Given the description of an element on the screen output the (x, y) to click on. 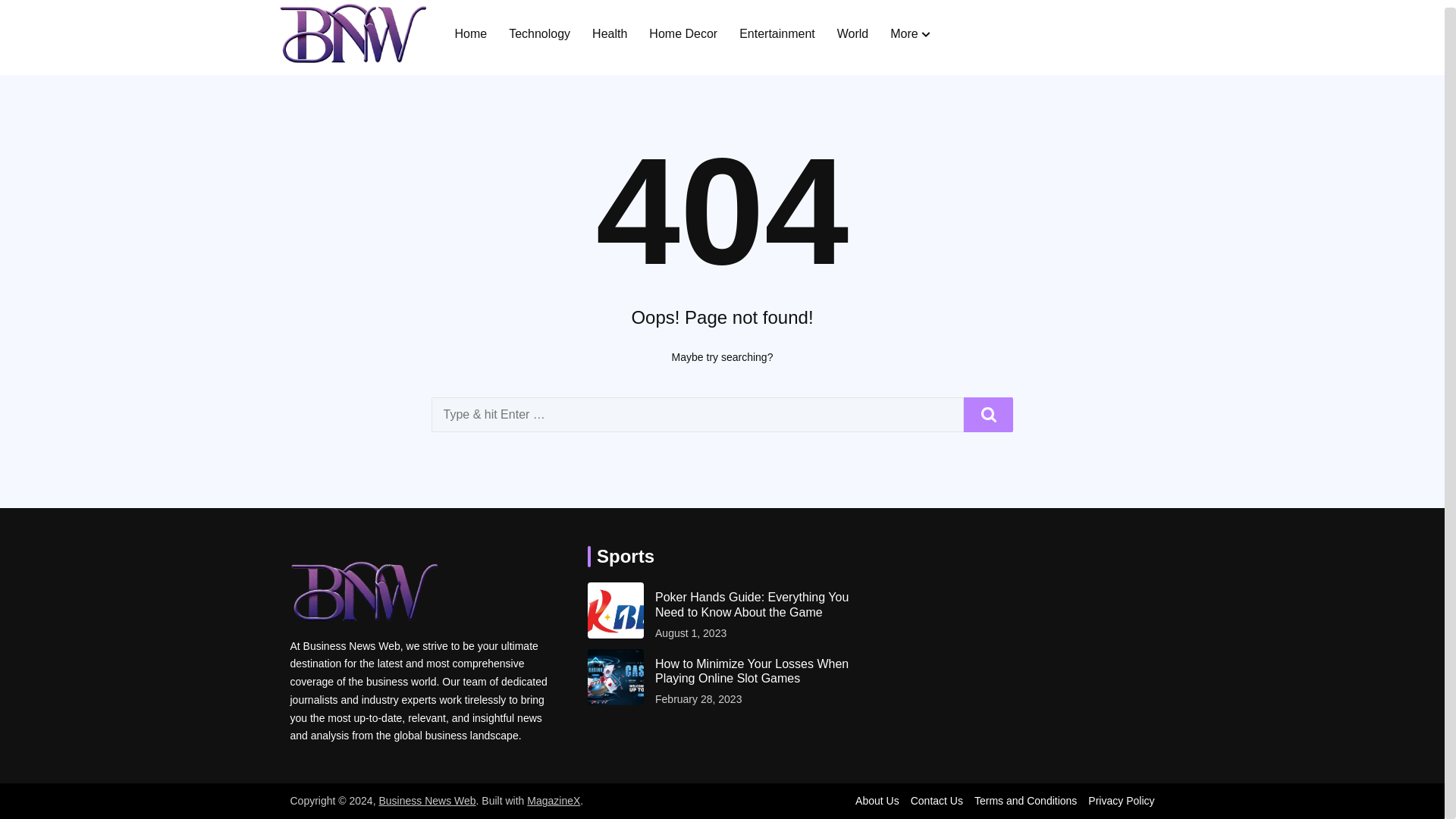
How to Minimize Your Losses When Playing Online Slot Games (756, 670)
Technology (539, 33)
Home Decor (683, 33)
Terms and Conditions (1025, 800)
Search for: (696, 414)
Business News Web (427, 800)
February 28, 2023 (698, 699)
MagazineX (553, 800)
Search (988, 414)
MagazineX (553, 800)
Business News Web (427, 800)
Privacy Policy (1120, 800)
Entertainment (777, 33)
Contact Us (936, 800)
